Given the description of an element on the screen output the (x, y) to click on. 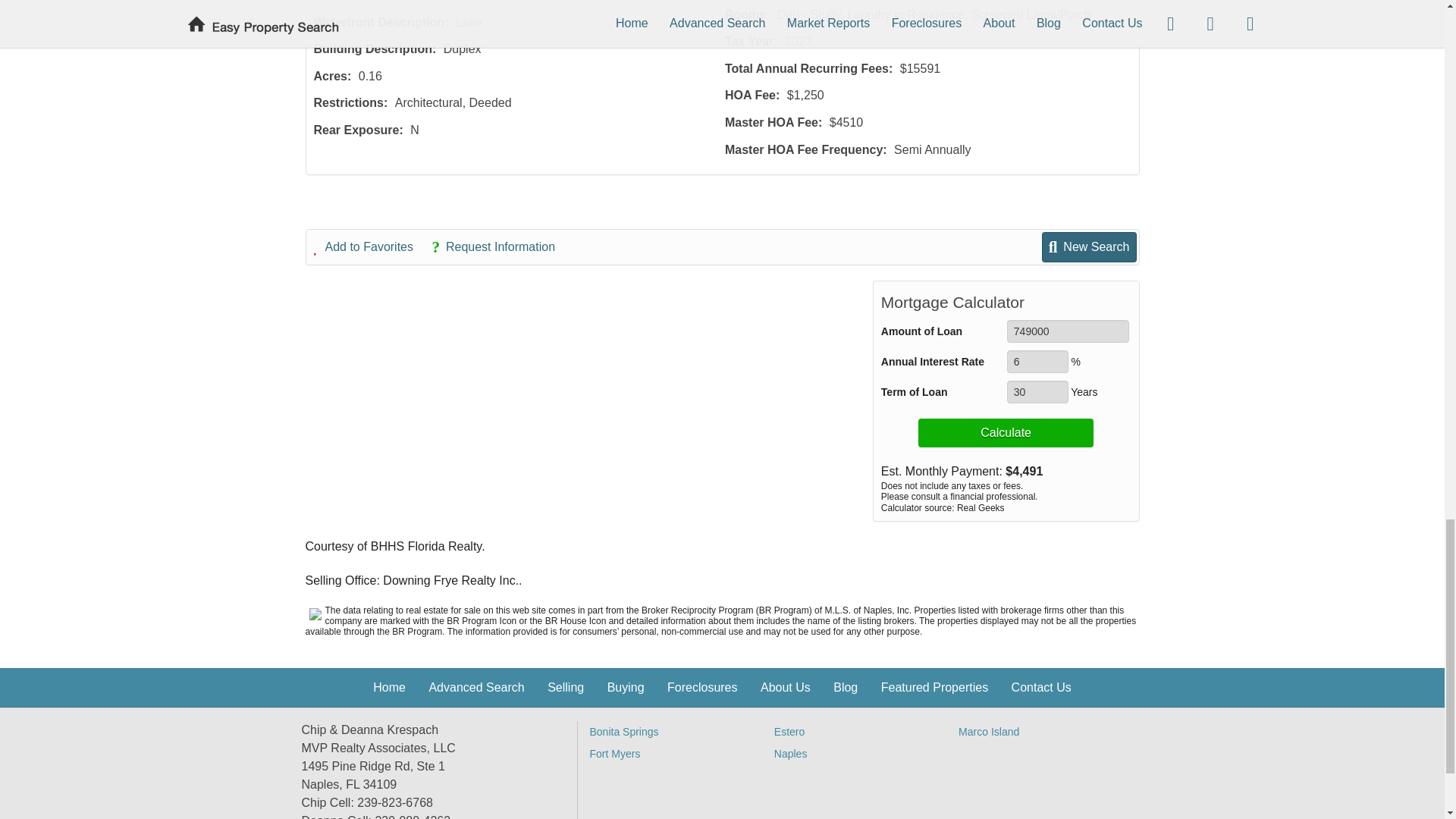
749000 (1068, 331)
6 (1037, 361)
30 (1037, 391)
